Given the description of an element on the screen output the (x, y) to click on. 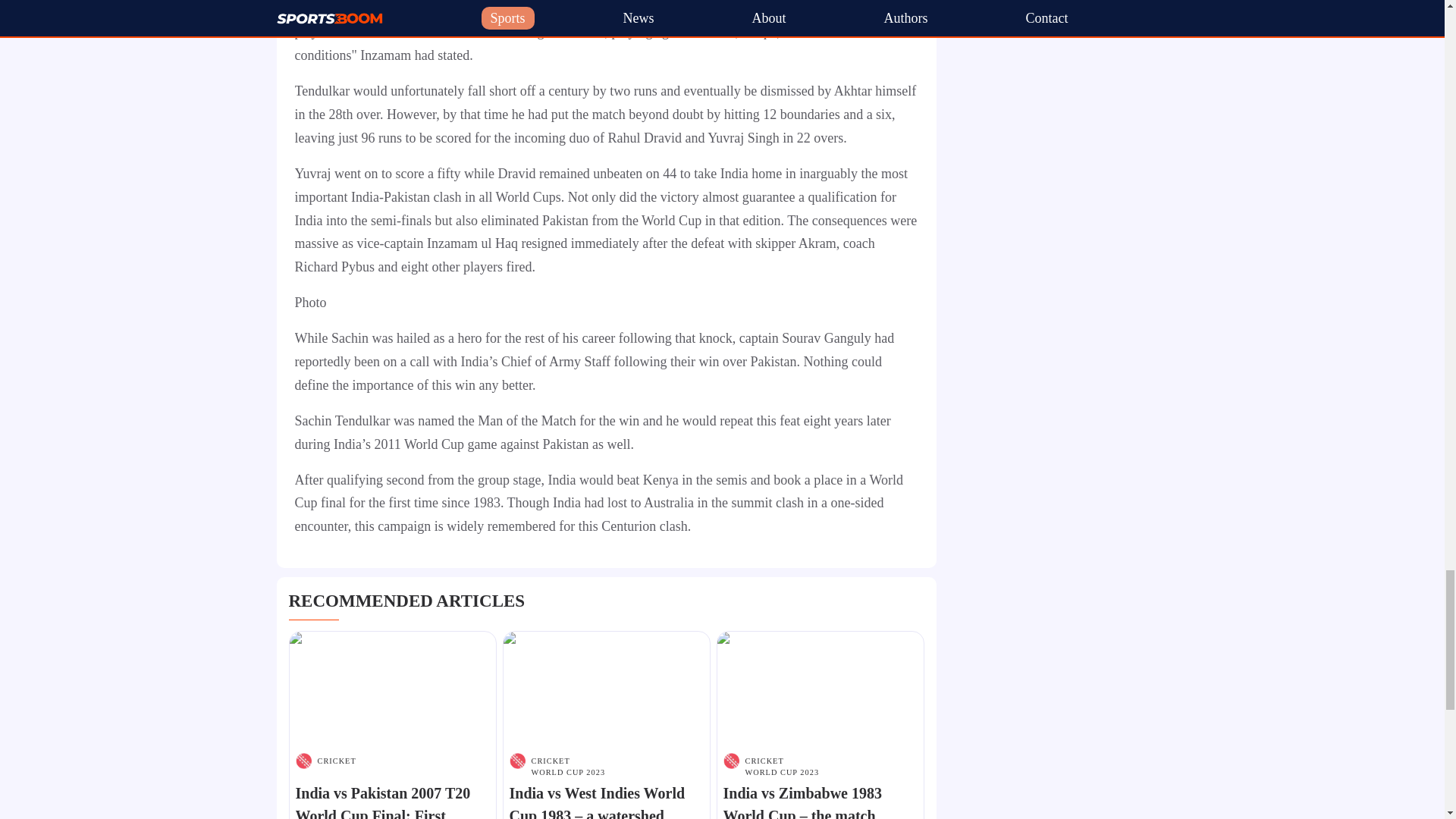
CRICKET (336, 760)
WORLD CUP 2023 (568, 772)
WORLD CUP 2023 (781, 772)
CRICKET (781, 760)
CRICKET (568, 760)
